Given the description of an element on the screen output the (x, y) to click on. 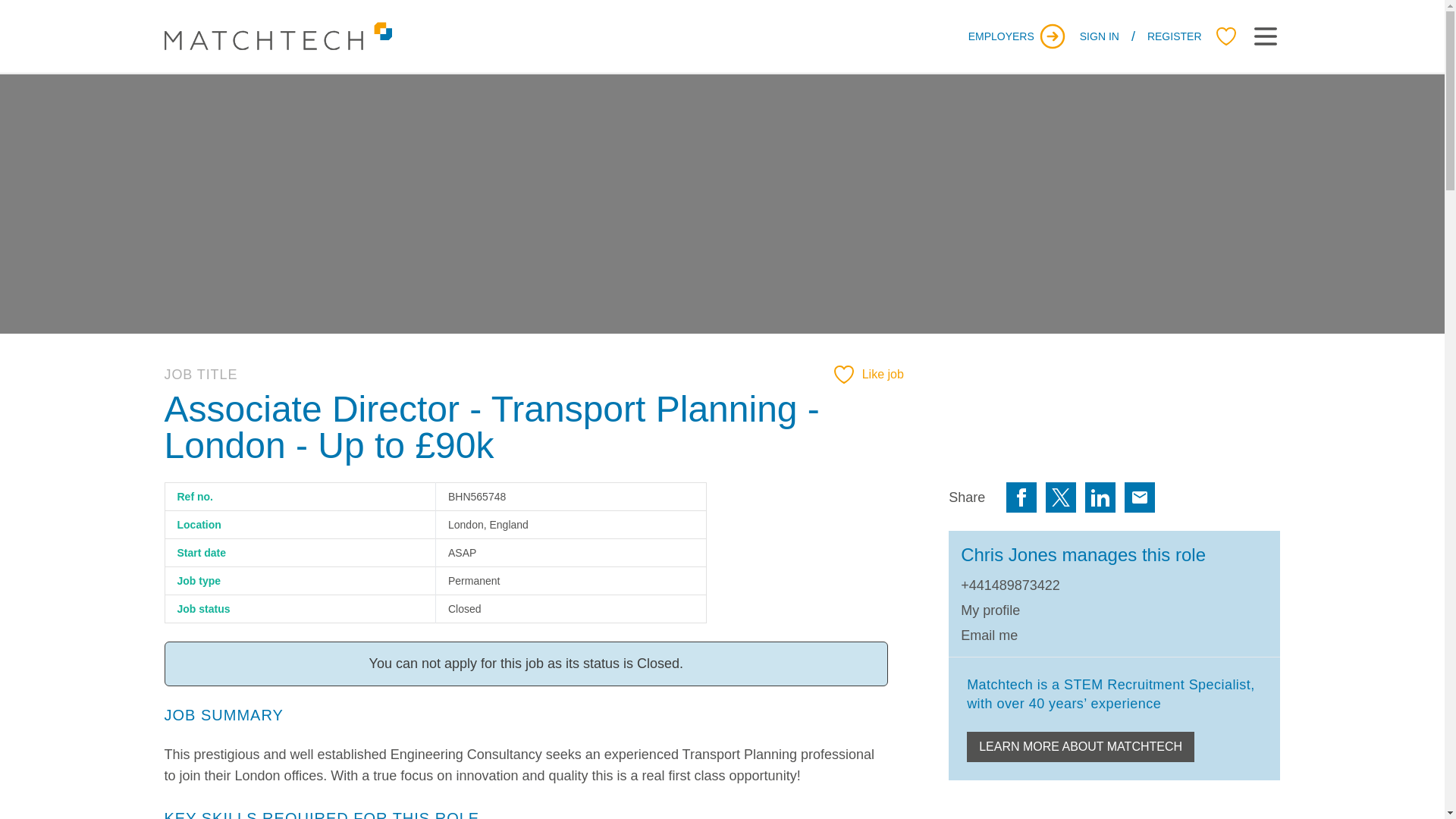
Home (277, 36)
REGISTER (1174, 36)
Toggle menu (1264, 36)
EMPLOYERS (1017, 36)
SIGN IN (1099, 36)
